Given the description of an element on the screen output the (x, y) to click on. 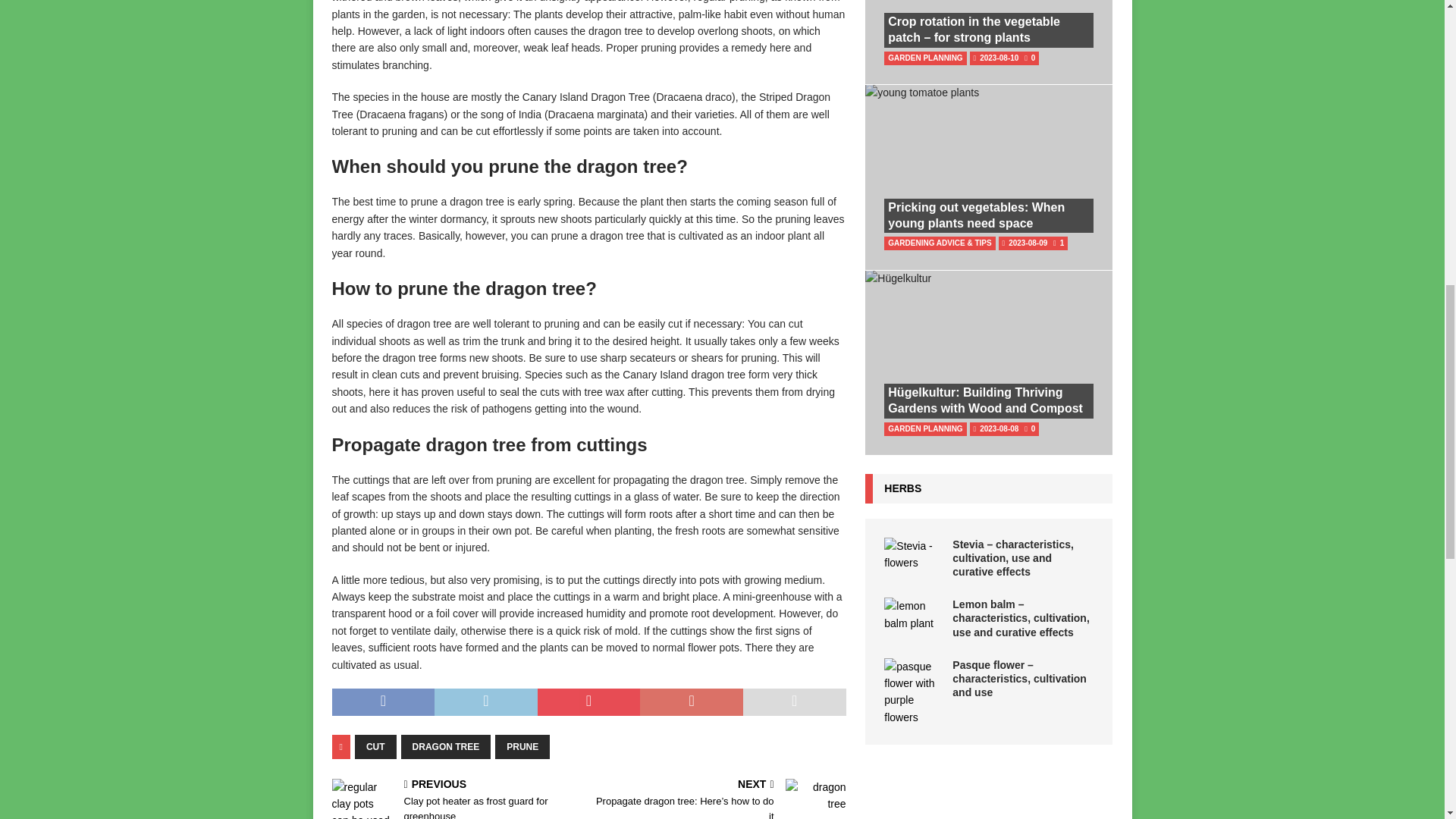
PRUNE (522, 746)
DRAGON TREE (446, 746)
CUT (375, 746)
